Given the description of an element on the screen output the (x, y) to click on. 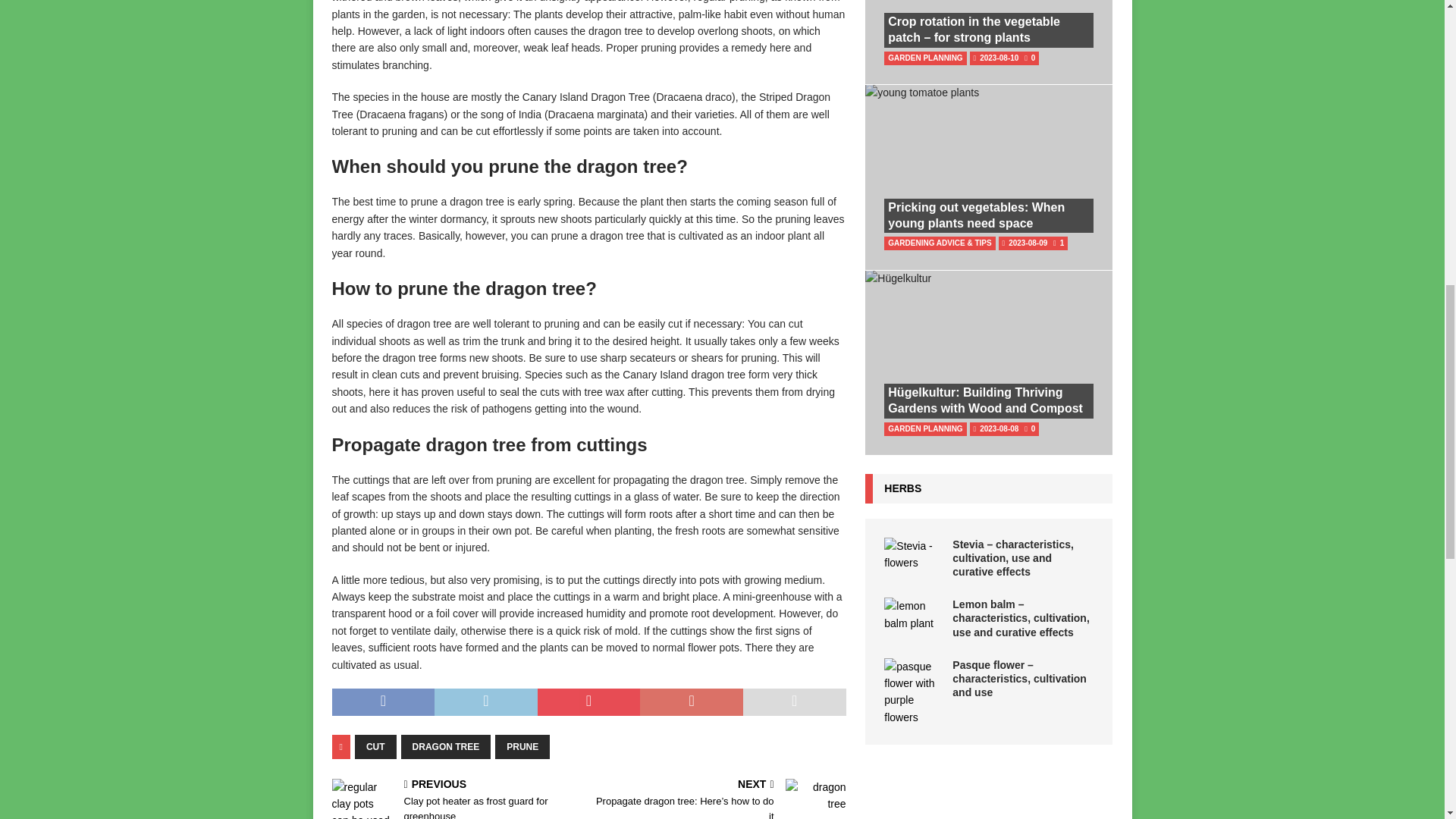
PRUNE (522, 746)
DRAGON TREE (446, 746)
CUT (375, 746)
